Given the description of an element on the screen output the (x, y) to click on. 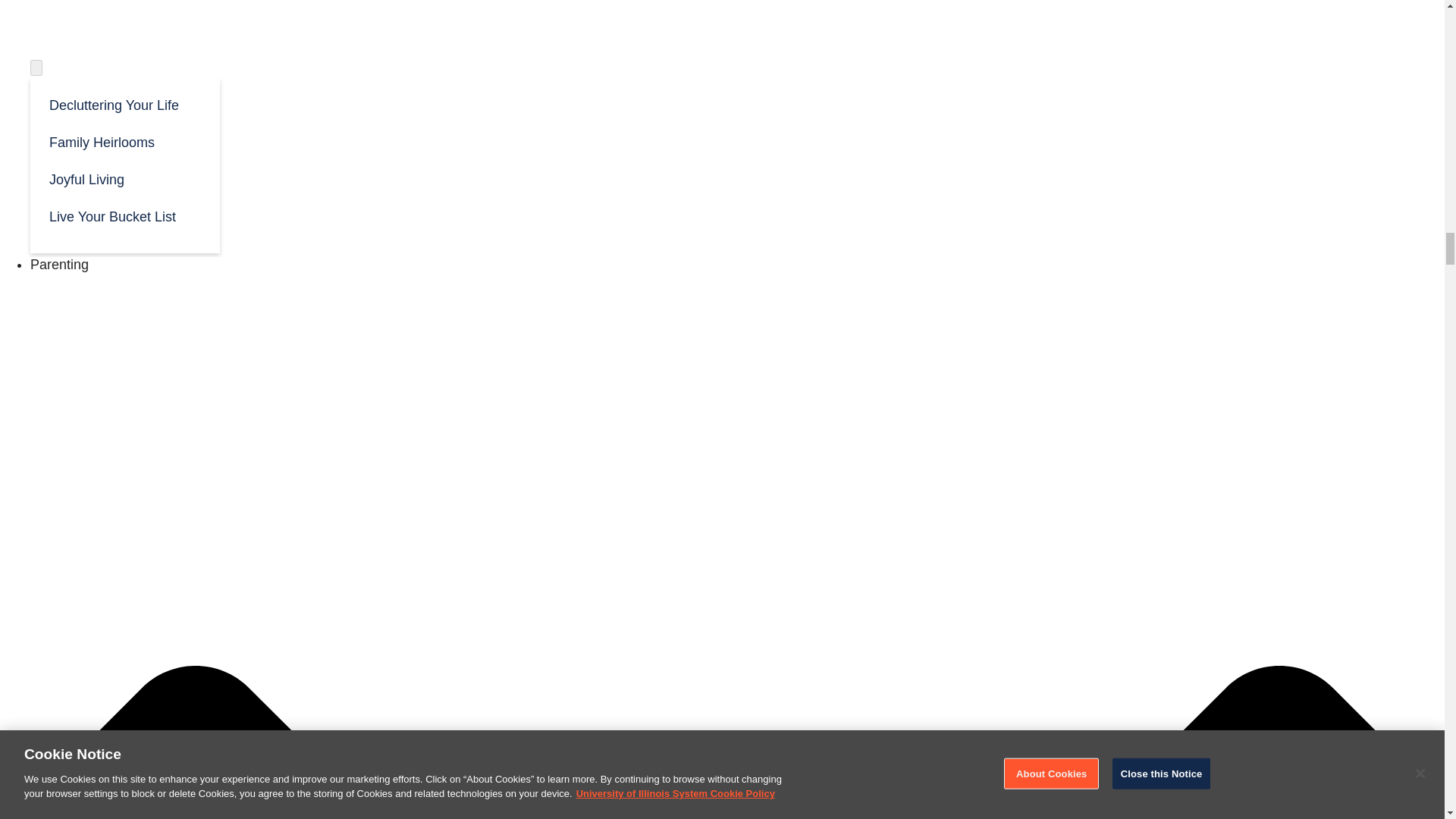
Joyful Living (125, 178)
Parenting (59, 264)
Live Your Bucket List (125, 215)
Family Heirlooms (125, 140)
Decluttering Your Life (125, 103)
